Given the description of an element on the screen output the (x, y) to click on. 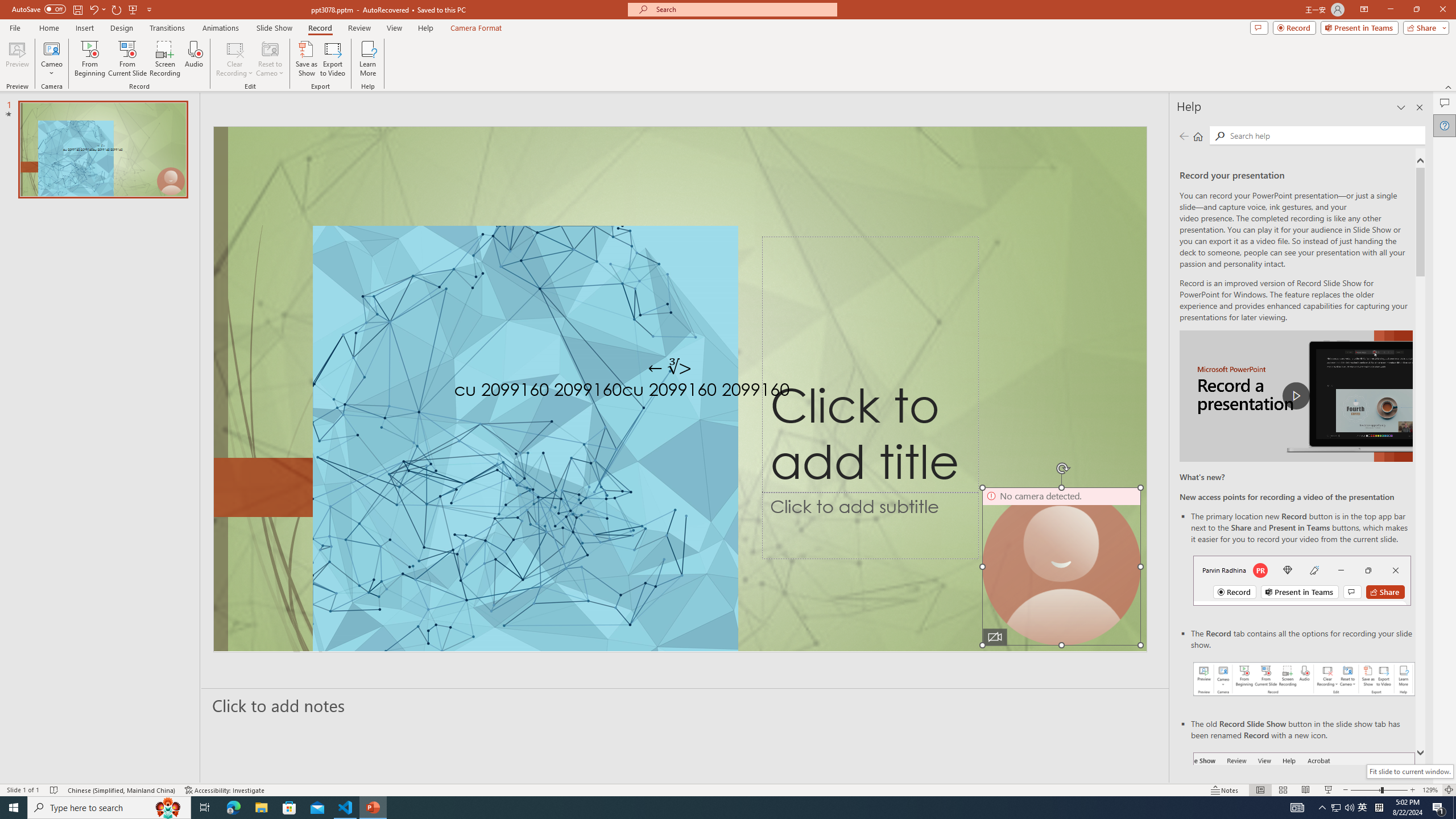
Previous page (1183, 136)
Camera Format (475, 28)
Record button in top bar (1301, 580)
